Given the description of an element on the screen output the (x, y) to click on. 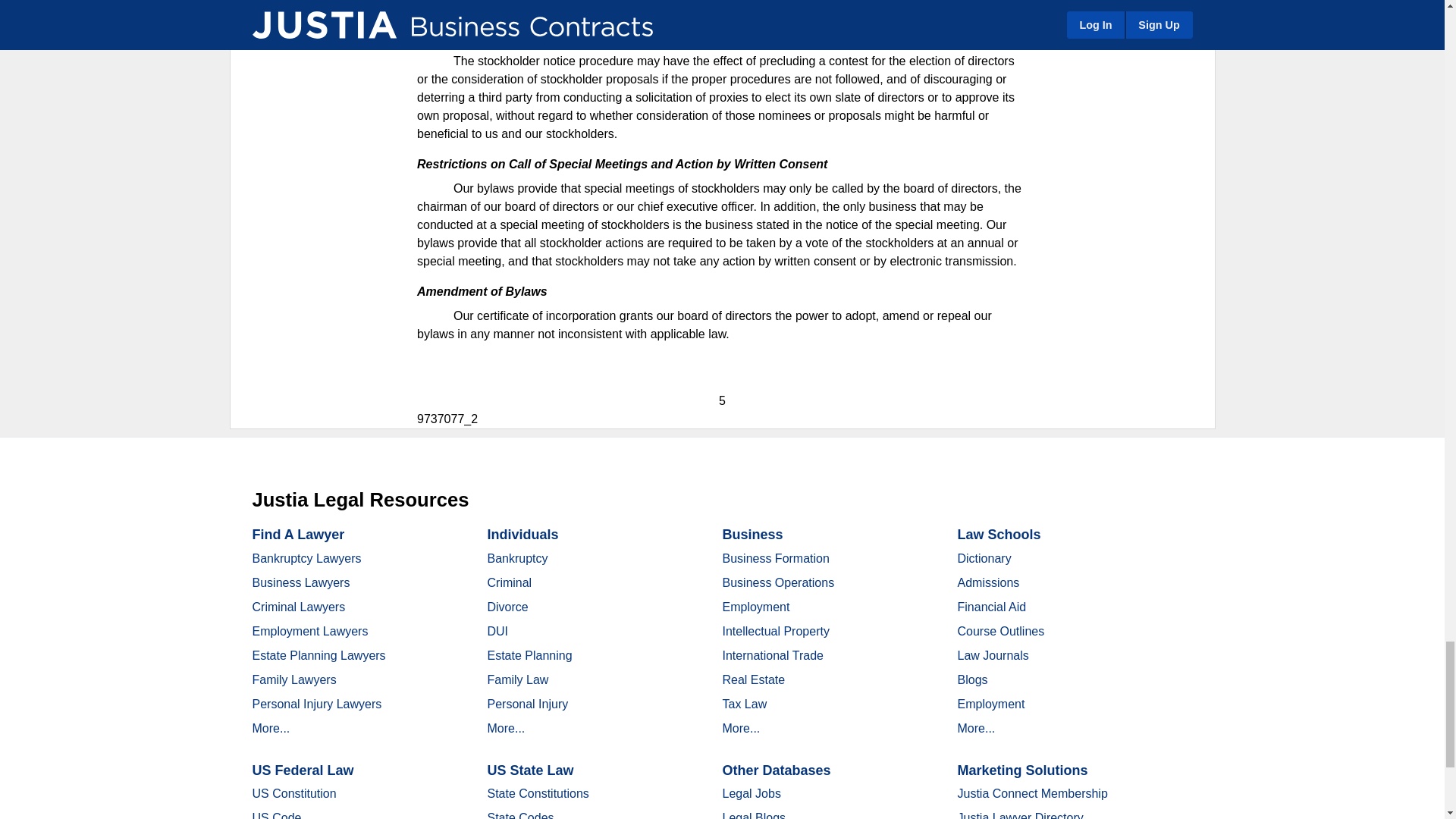
Family Lawyers (293, 679)
Bankruptcy Lawyers (306, 558)
Estate Planning Lawyers (318, 655)
Find A Lawyer (297, 534)
Employment Lawyers (309, 631)
Personal Injury Lawyers (316, 703)
Criminal Lawyers (298, 606)
Individuals (521, 534)
More... (270, 727)
Business Lawyers (300, 582)
Bankruptcy (516, 558)
